Given the description of an element on the screen output the (x, y) to click on. 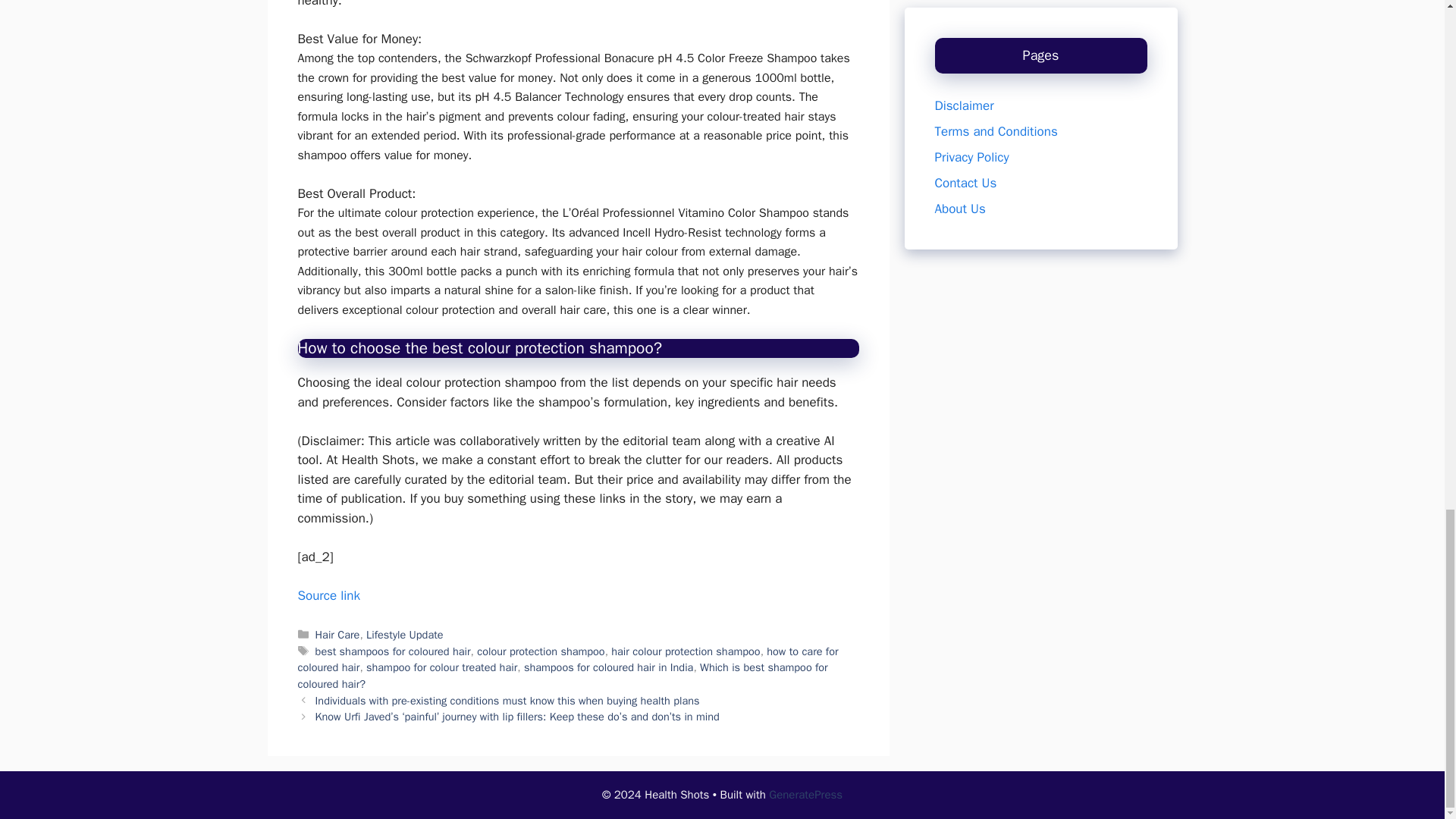
Scroll back to top (1406, 169)
Hair Care (337, 634)
Source link (328, 595)
